Given the description of an element on the screen output the (x, y) to click on. 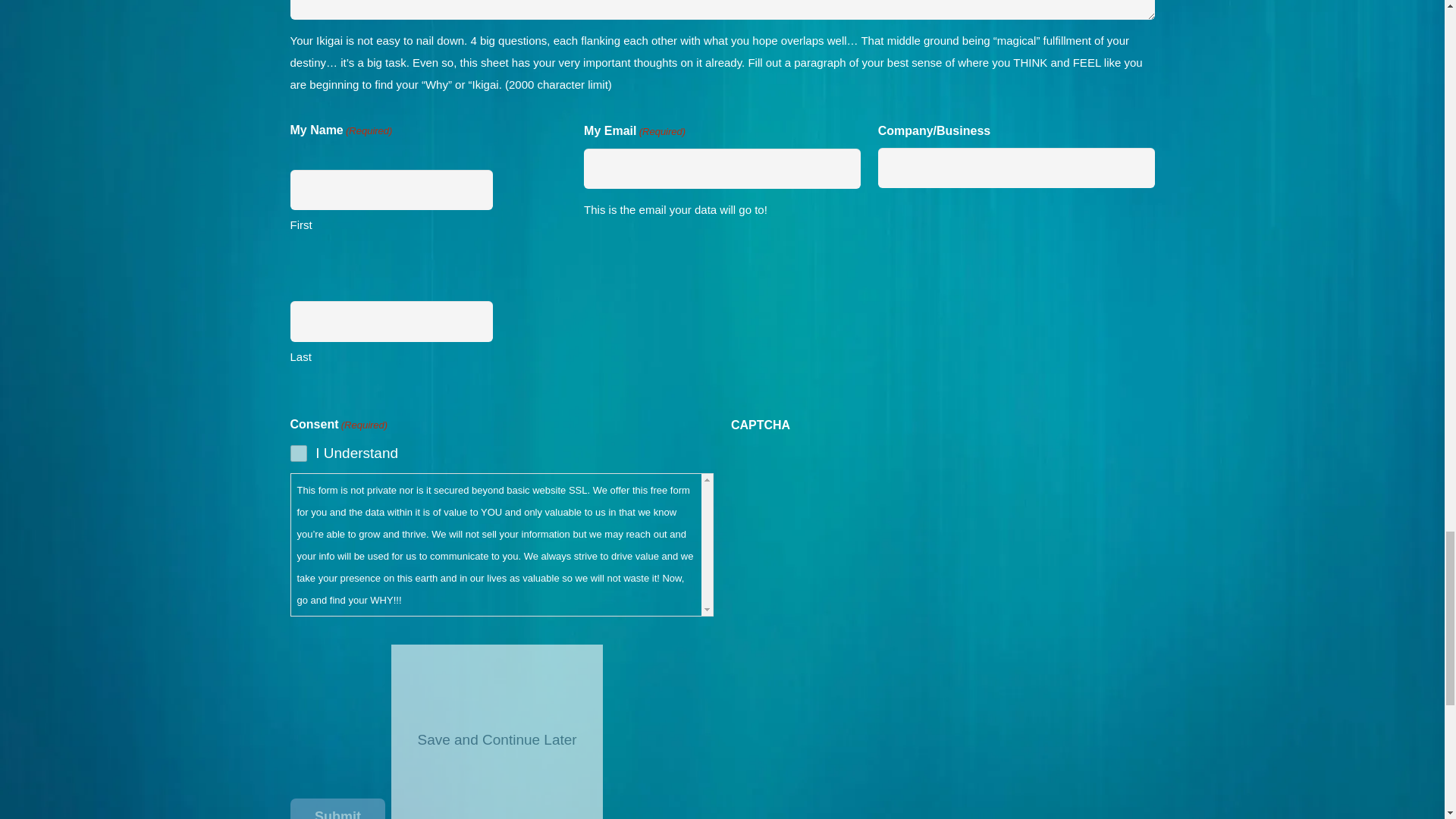
1 (298, 453)
Save and Continue Later (496, 731)
Submit (337, 808)
Submit (337, 808)
